Given the description of an element on the screen output the (x, y) to click on. 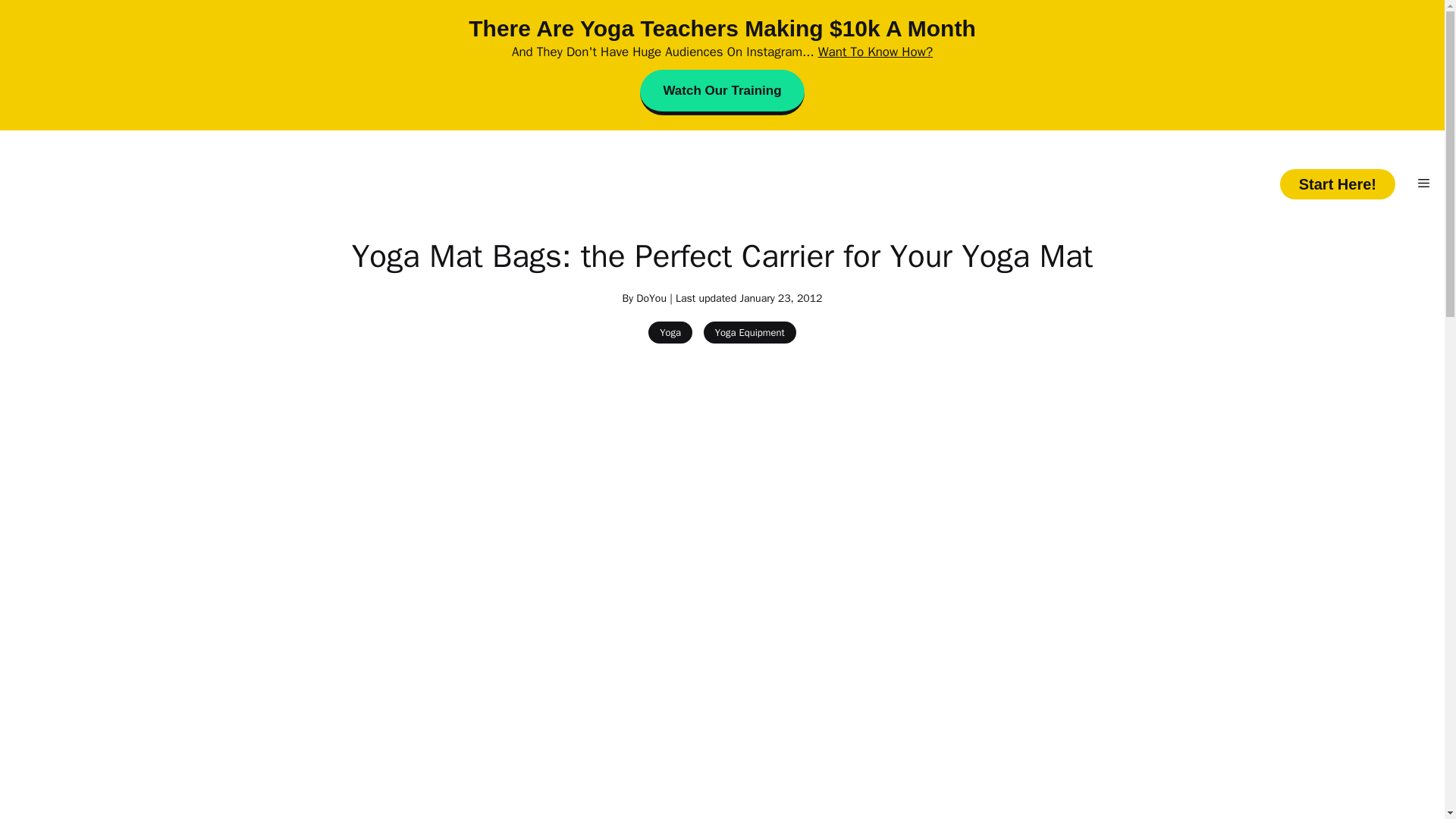
DoYou (651, 297)
Watch Our Training (721, 92)
Start Here! (1336, 183)
DoYou (722, 183)
Posts by DoYou (651, 297)
Yoga (670, 332)
Yoga Equipment (749, 332)
